Given the description of an element on the screen output the (x, y) to click on. 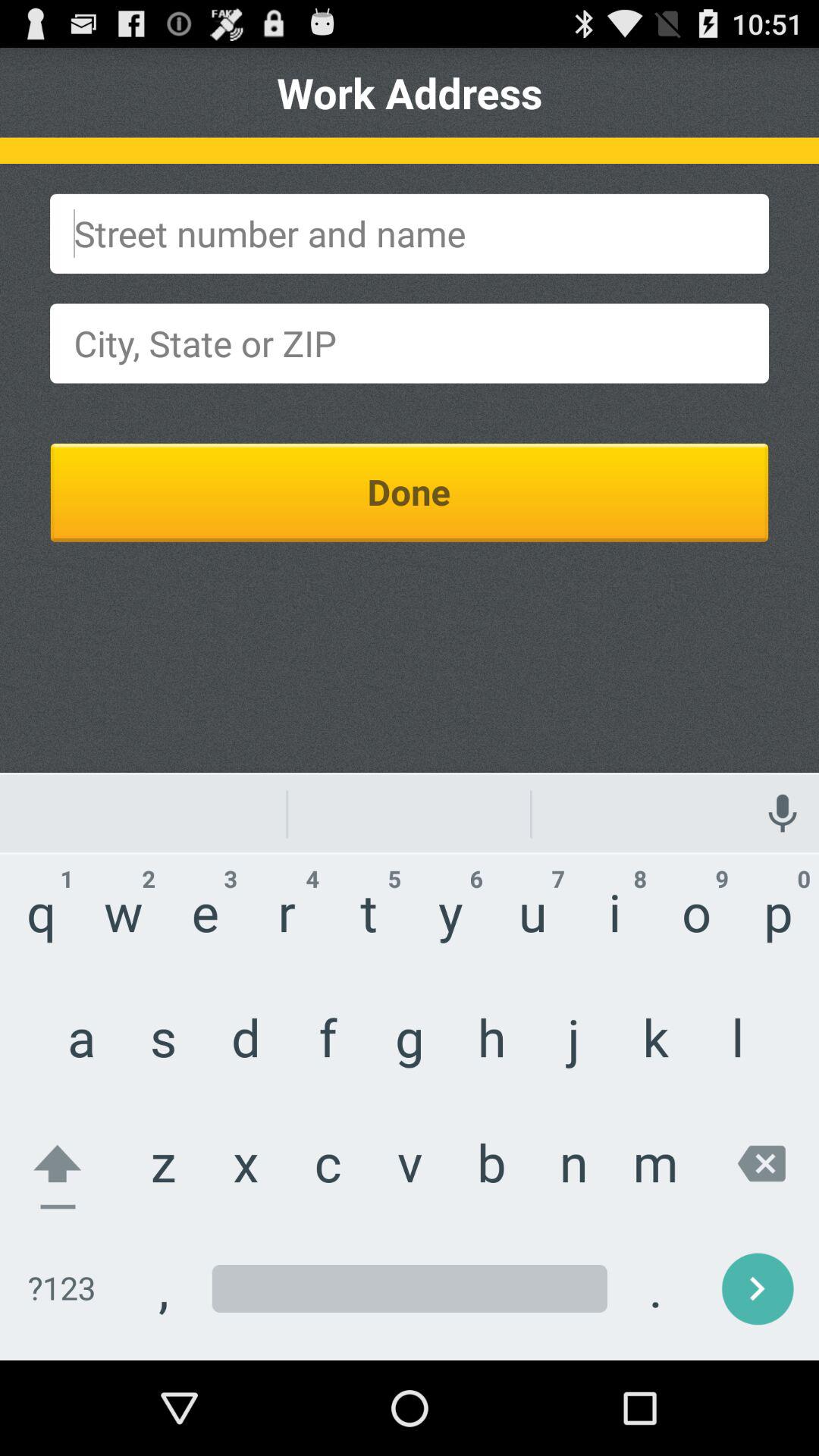
zip (409, 343)
